Given the description of an element on the screen output the (x, y) to click on. 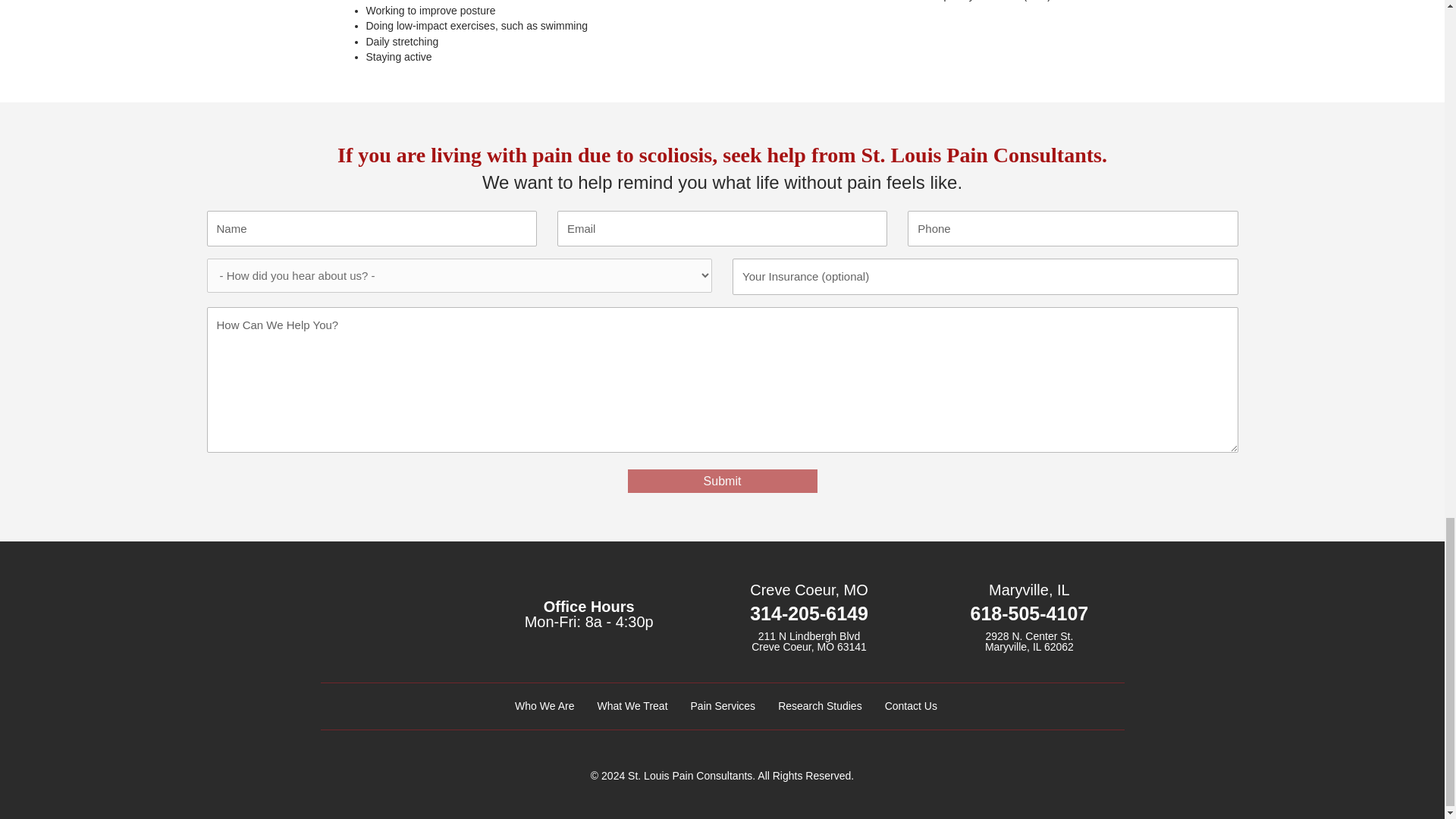
Submit (721, 481)
314-205-6149 (808, 613)
618-505-4107 (1030, 613)
stlouis-pain-consultants-white (391, 619)
